Given the description of an element on the screen output the (x, y) to click on. 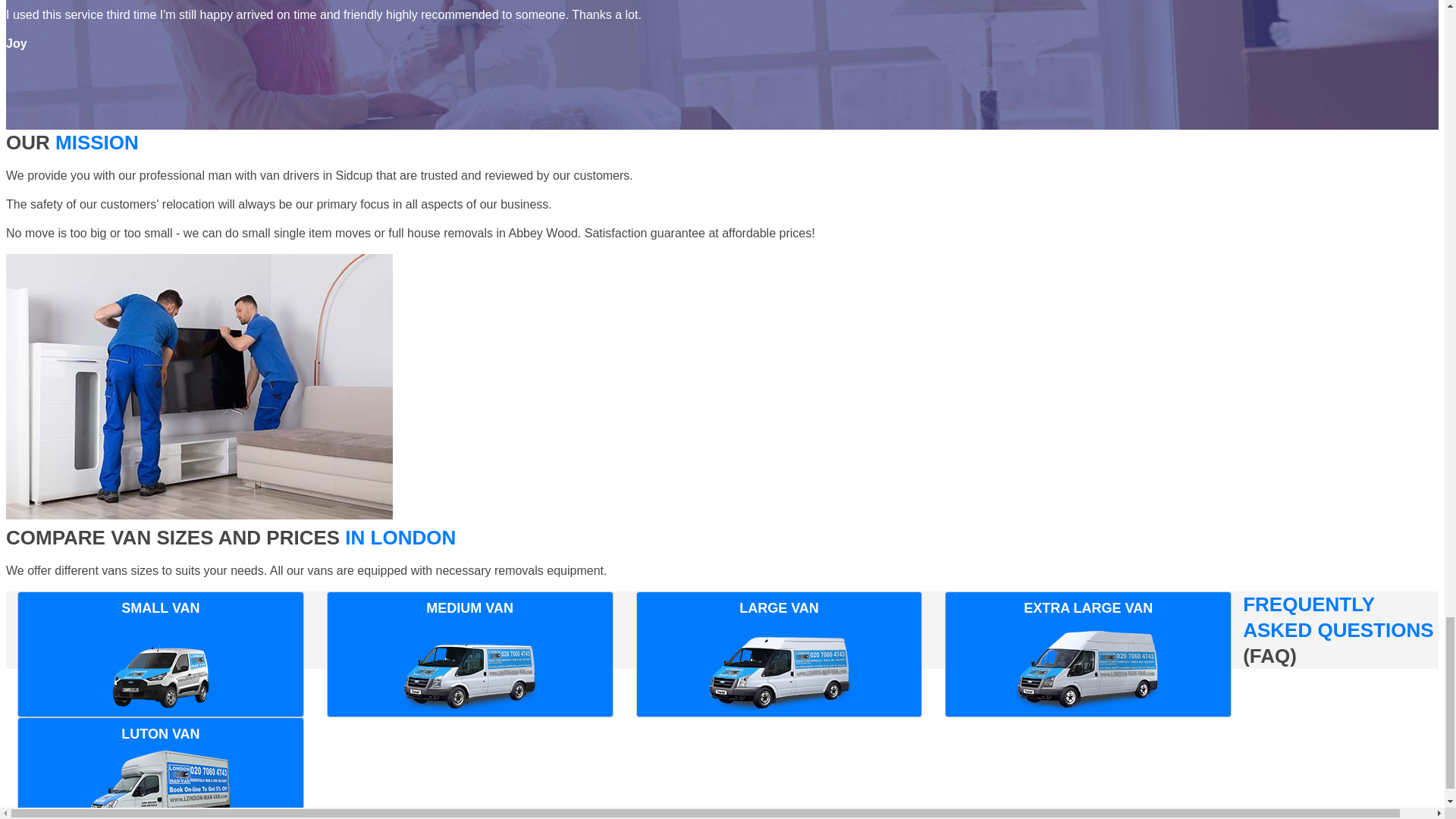
SMALL VAN (160, 654)
EXTRA LARGE VAN (1087, 654)
LARGE VAN (779, 654)
MEDIUM VAN (469, 654)
